Given the description of an element on the screen output the (x, y) to click on. 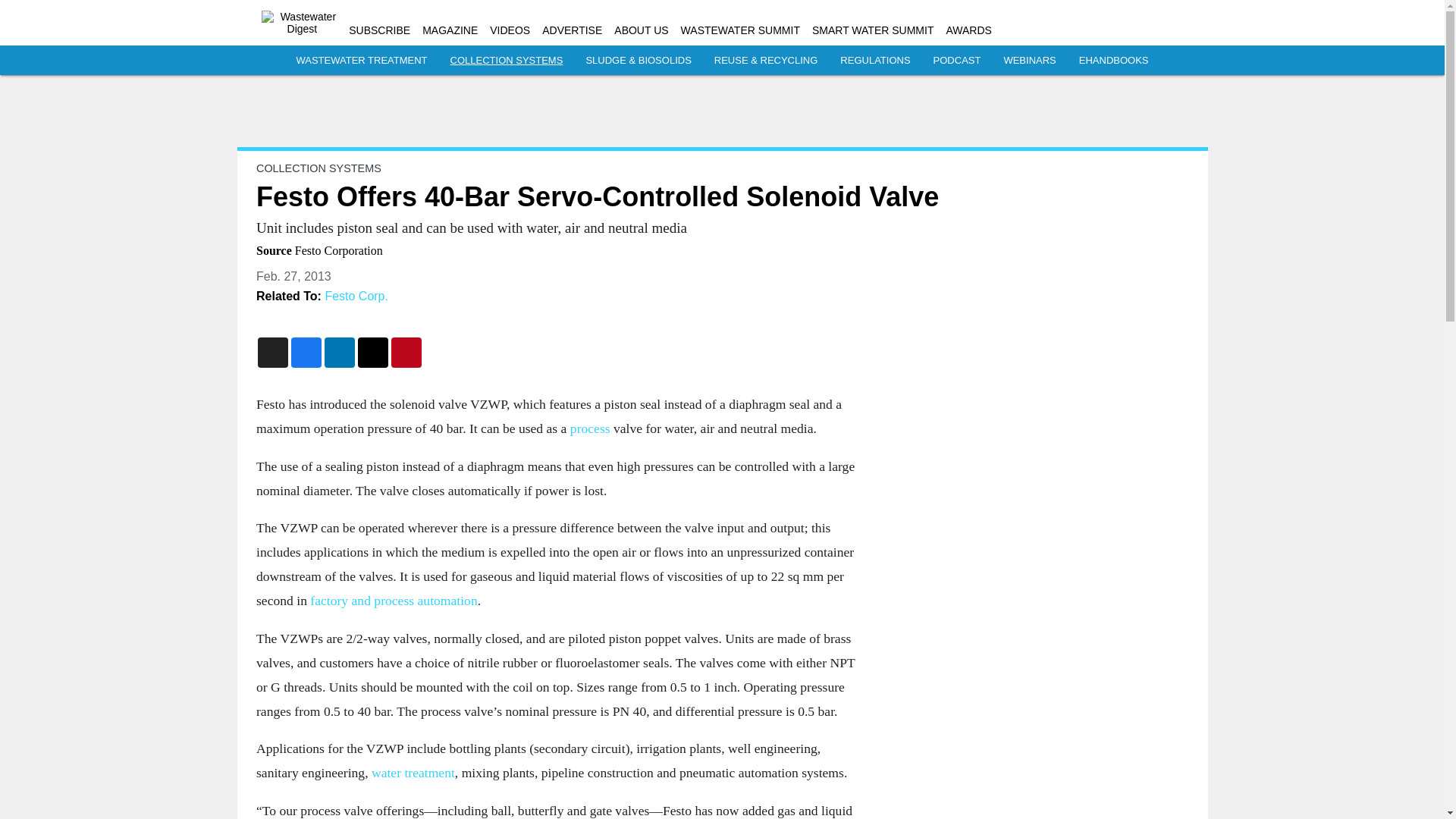
WASTEWATER SUMMIT (740, 30)
SUBSCRIBE (379, 30)
ABOUT US (641, 30)
factory and process automation (393, 600)
Festo Corp. (356, 295)
MAGAZINE (449, 30)
ADVERTISE (571, 30)
SMART WATER SUMMIT (872, 30)
water treatment (412, 772)
REGULATIONS (875, 60)
